Given the description of an element on the screen output the (x, y) to click on. 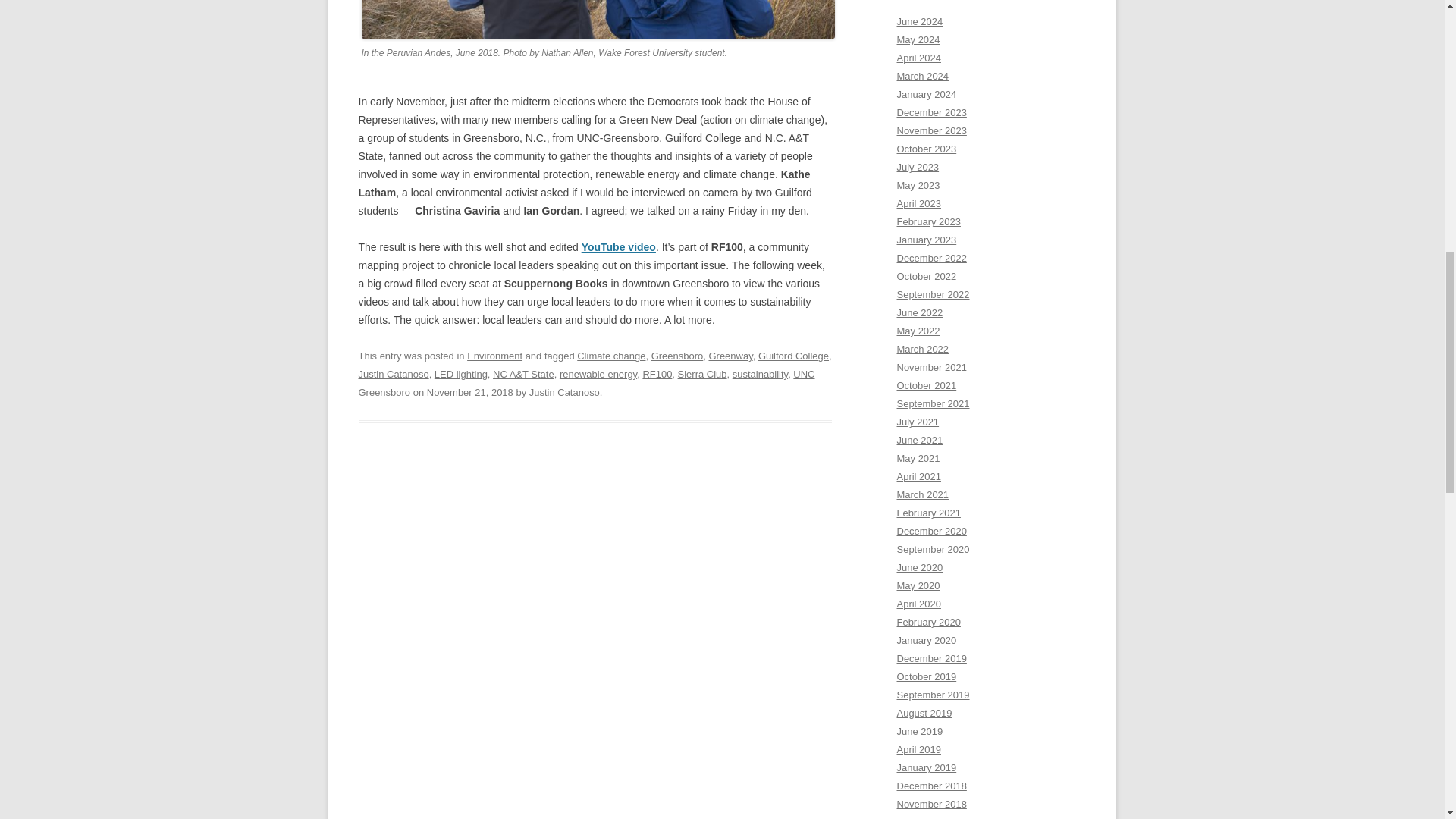
June 2024 (919, 21)
Justin Catanoso (393, 374)
Greensboro (676, 355)
Sierra Club (702, 374)
April 2024 (918, 57)
5:16 am (469, 392)
November 21, 2018 (469, 392)
renewable energy (598, 374)
March 2024 (922, 75)
View all posts by Justin Catanoso (564, 392)
LED lighting (460, 374)
RF100 (656, 374)
Environment (494, 355)
Climate change (610, 355)
YouTube video (618, 246)
